Given the description of an element on the screen output the (x, y) to click on. 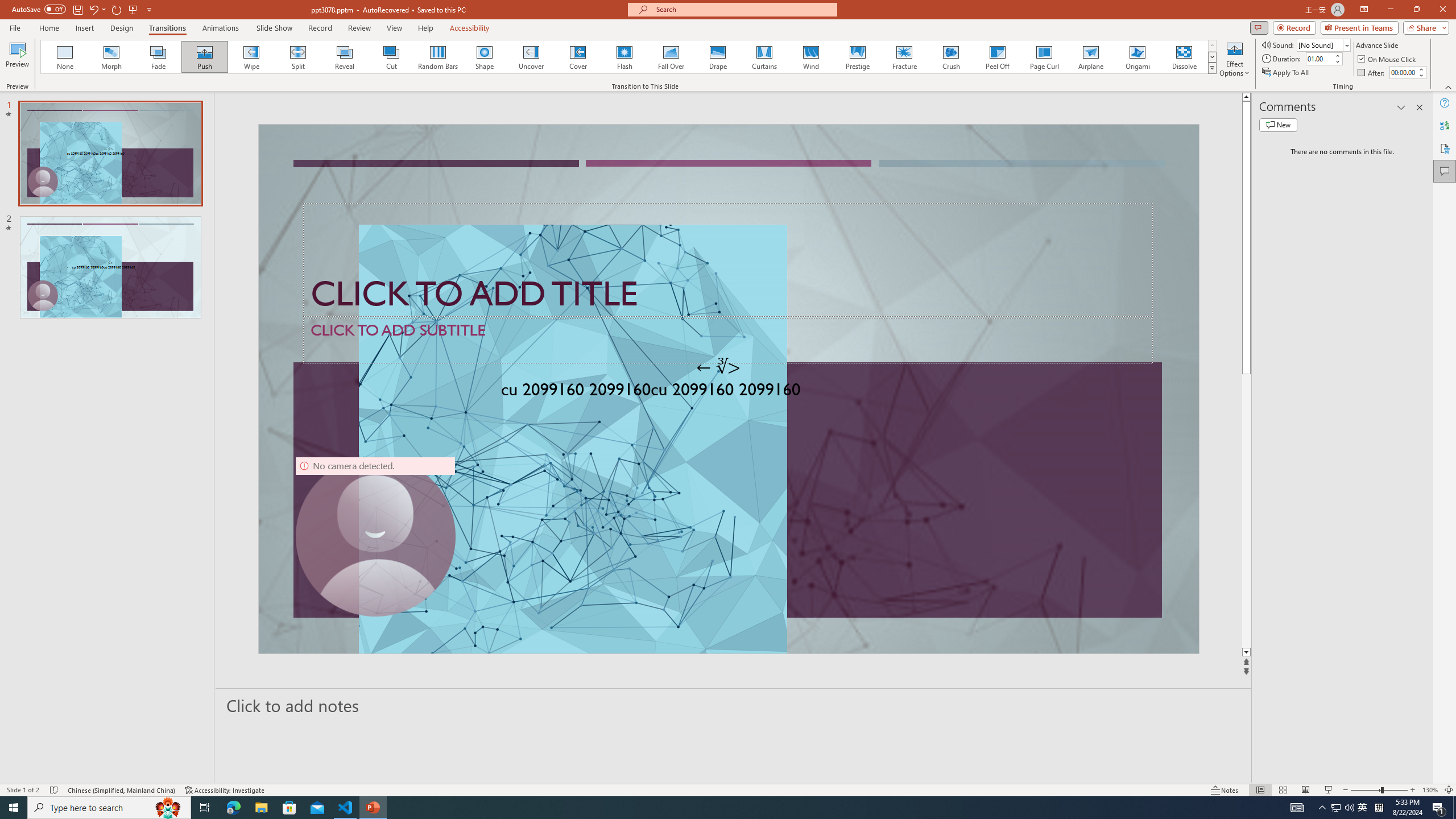
Cover (577, 56)
After (1372, 72)
More (1420, 69)
Peel Off (997, 56)
Page down (1245, 511)
Quick Access Toolbar (82, 9)
Wind (810, 56)
Share (1423, 27)
Normal (1260, 790)
Accessibility (1444, 147)
Notes  (1225, 790)
Task Pane Options (1400, 107)
Microsoft search (742, 9)
